Given the description of an element on the screen output the (x, y) to click on. 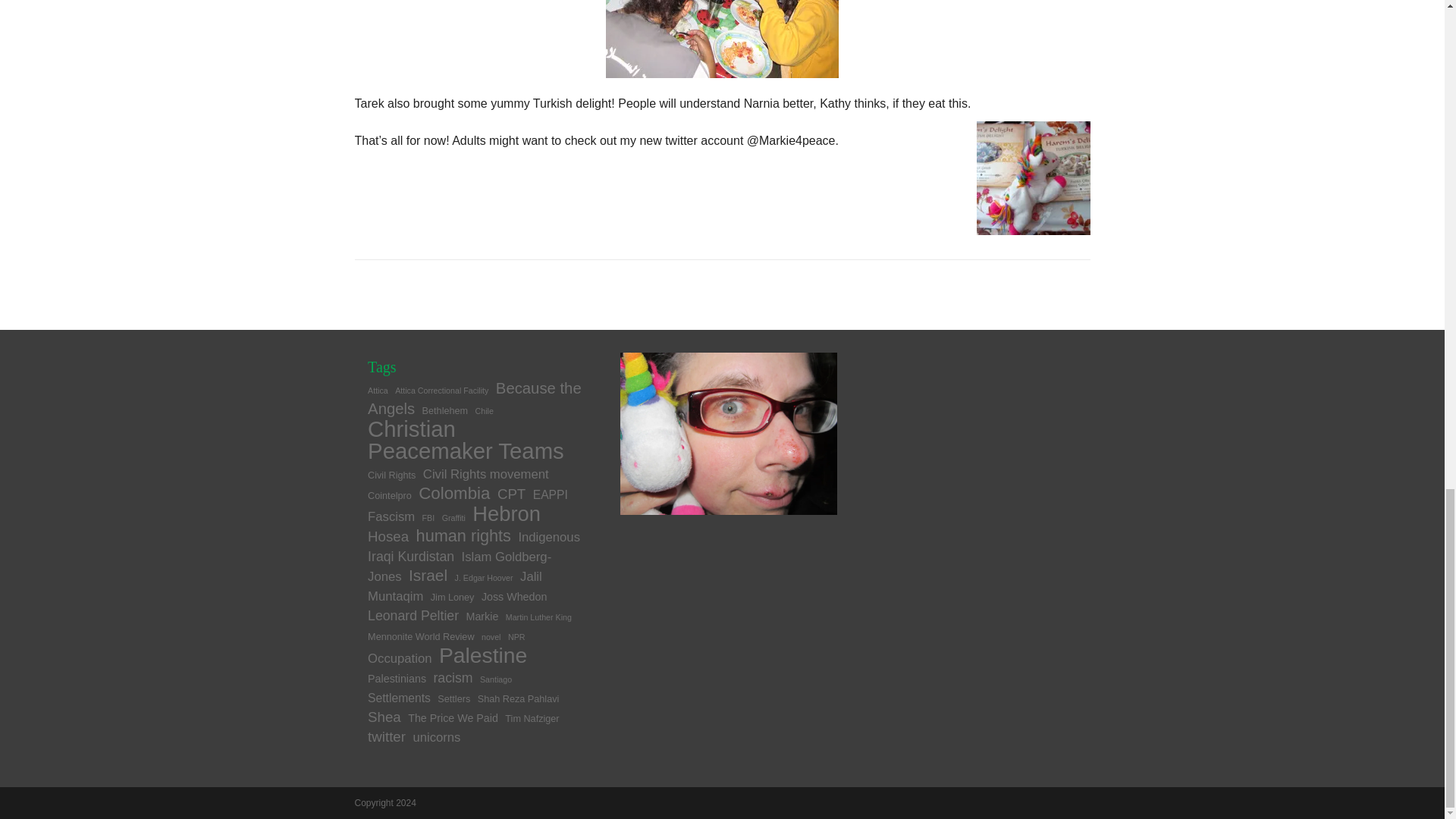
Chile (484, 410)
Colombia (454, 493)
Attica (378, 389)
Hebron (505, 513)
Civil Rights movement (485, 473)
Indigenous (548, 536)
Civil Rights (391, 475)
Graffiti (453, 517)
CPT (511, 494)
Attica Correctional Facility (440, 389)
